Given the description of an element on the screen output the (x, y) to click on. 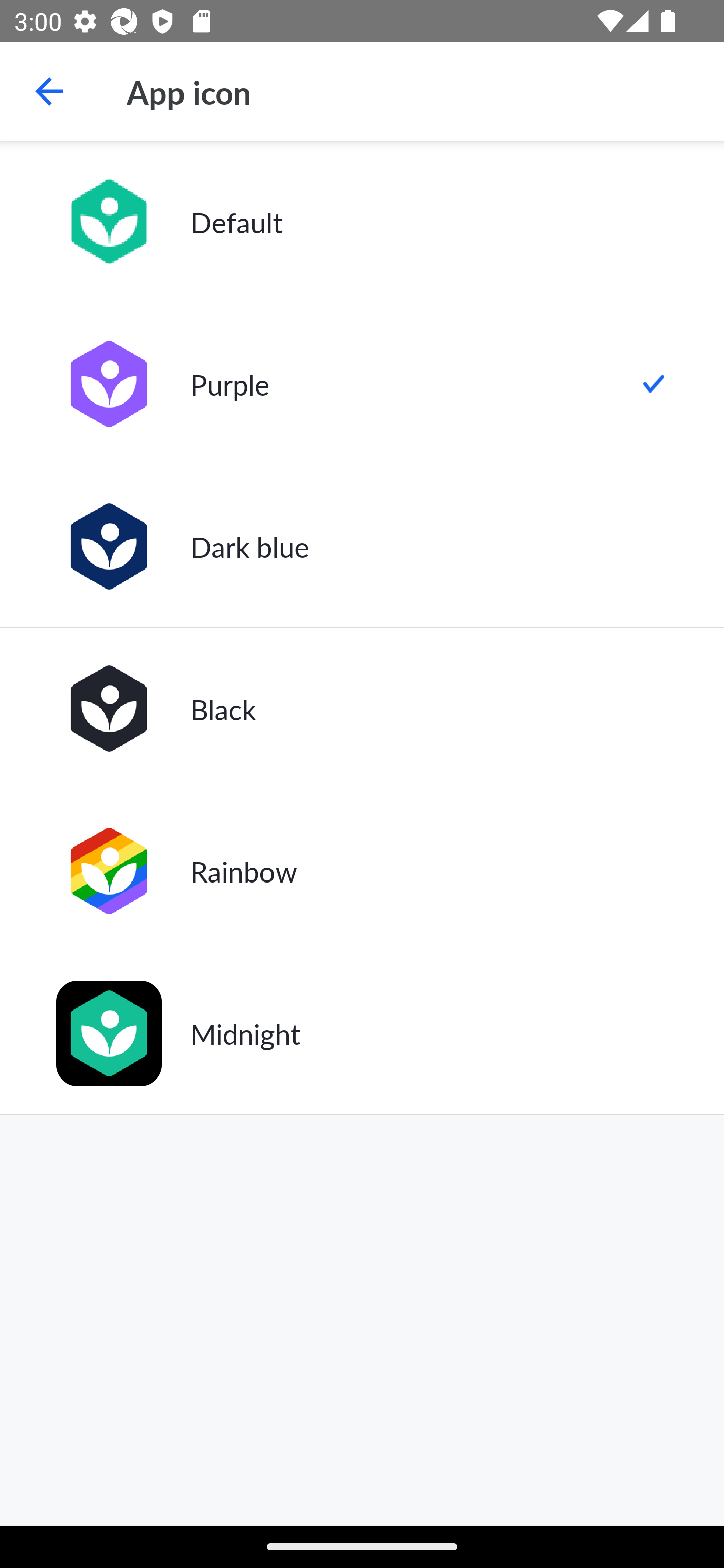
Navigate up (49, 91)
Default (362, 221)
Purple Checkmark (362, 383)
Dark blue (362, 546)
Black (362, 708)
Rainbow (362, 870)
Midnight (362, 1032)
